Given the description of an element on the screen output the (x, y) to click on. 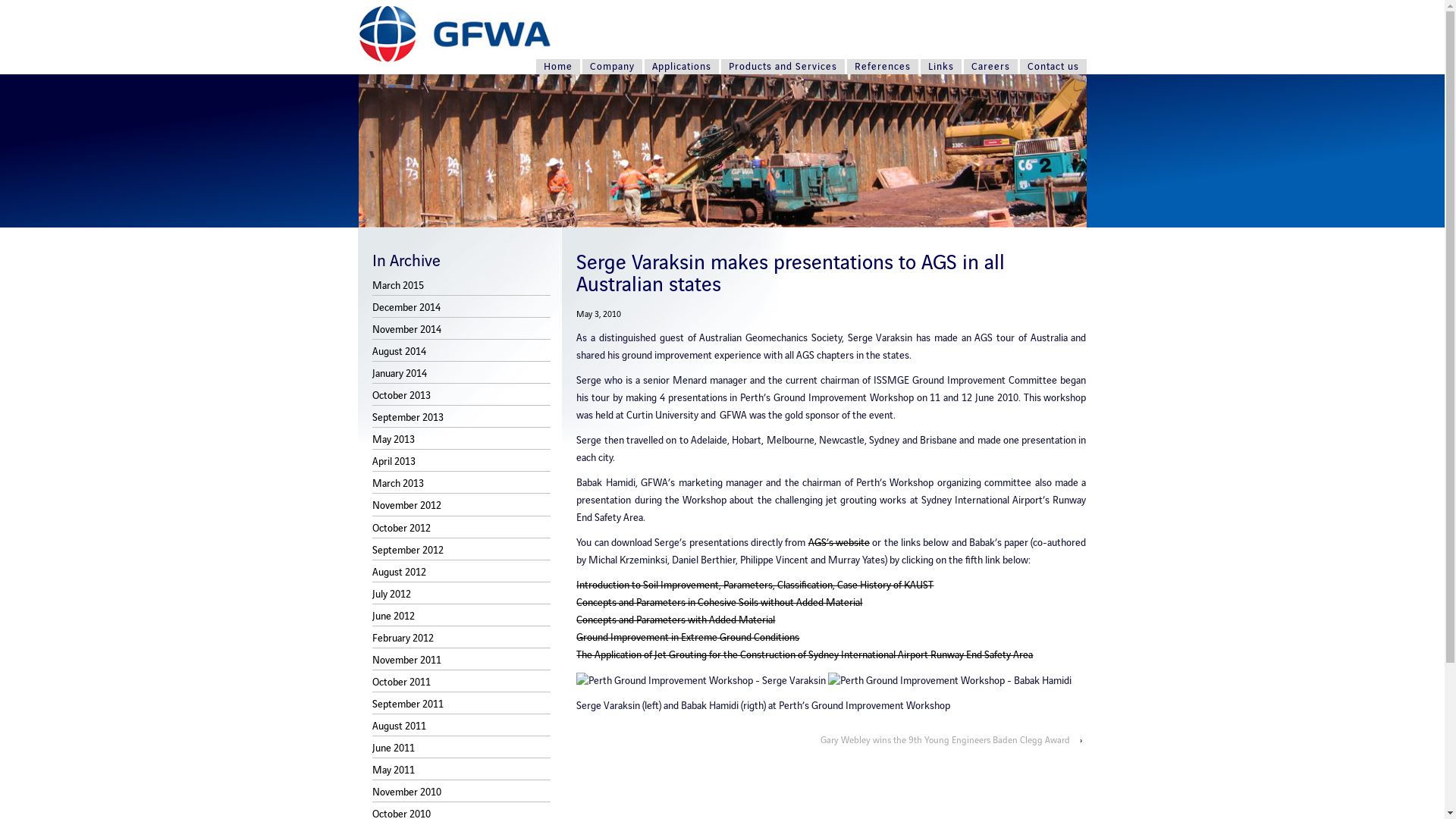
April 2013 Element type: text (393, 461)
Links Element type: text (940, 67)
September 2012 Element type: text (407, 550)
Contact us Element type: text (1052, 67)
May 2013 Element type: text (393, 439)
September 2013 Element type: text (407, 417)
November 2012 Element type: text (406, 505)
November 2014 Element type: text (406, 329)
December 2014 Element type: text (406, 307)
Products and Services Element type: text (782, 67)
February 2012 Element type: text (402, 638)
August 2014 Element type: text (399, 351)
Home Element type: text (557, 67)
November 2011 Element type: text (406, 660)
Ground Improvement in Extreme Ground Conditions Element type: text (687, 637)
May 3, 2010 Element type: text (598, 313)
June 2011 Element type: text (393, 748)
May 2011 Element type: text (393, 770)
Company Element type: text (612, 67)
June 2012 Element type: text (393, 616)
Applications Element type: text (681, 67)
August 2012 Element type: text (399, 572)
Careers Element type: text (989, 67)
August 2011 Element type: text (399, 726)
October 2013 Element type: text (401, 395)
March 2013 Element type: text (397, 483)
November 2010 Element type: text (406, 792)
January 2014 Element type: text (399, 373)
July 2012 Element type: text (391, 594)
October 2011 Element type: text (401, 682)
October 2012 Element type: text (401, 528)
September 2011 Element type: text (407, 704)
March 2015 Element type: text (397, 285)
Gary Webley wins the 9th Young Engineers Baden Clegg Award Element type: text (944, 740)
Concepts and Parameters with Added Material Element type: text (675, 620)
References Element type: text (881, 67)
